Given the description of an element on the screen output the (x, y) to click on. 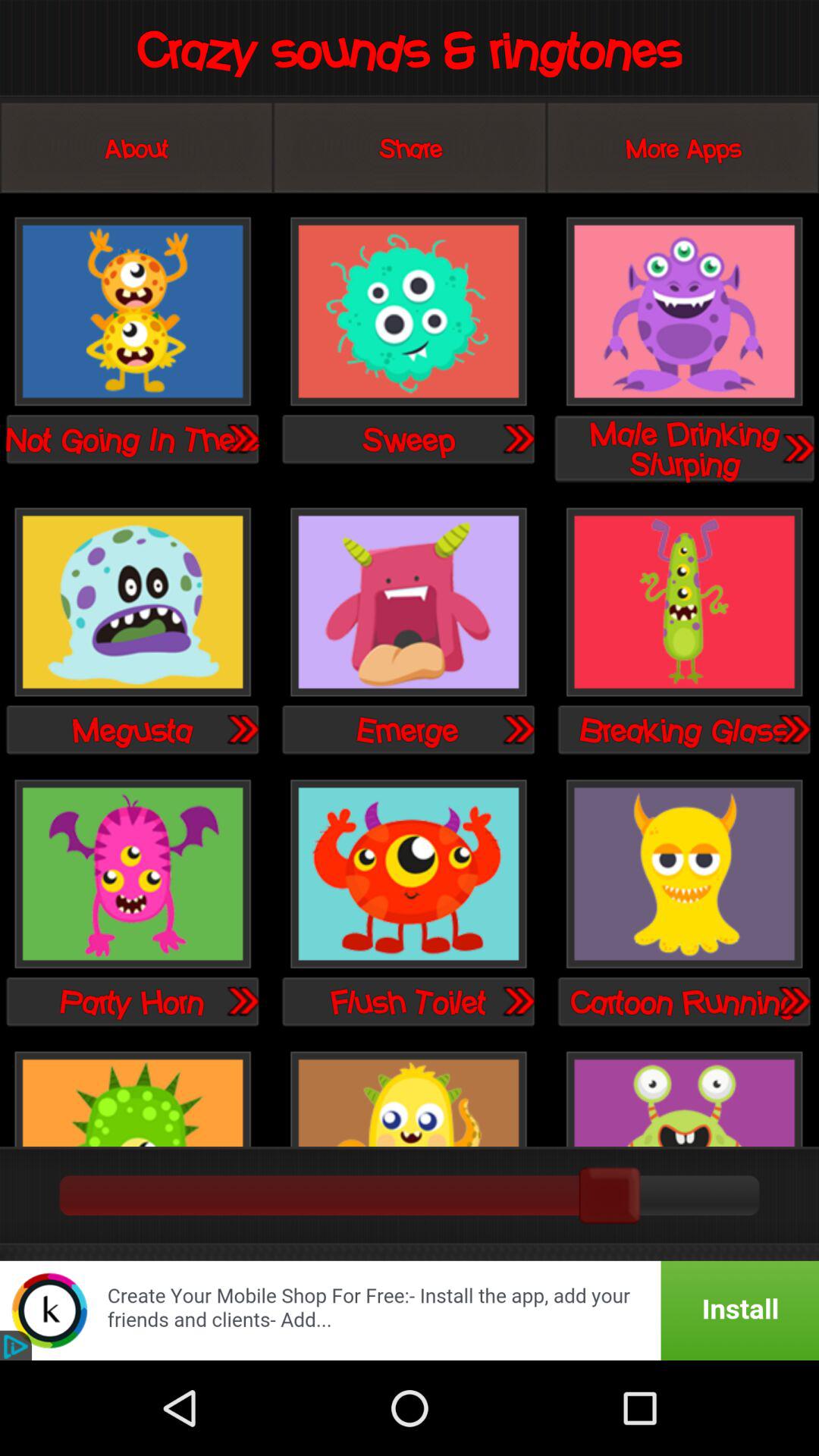
display picture (684, 1096)
